Given the description of an element on the screen output the (x, y) to click on. 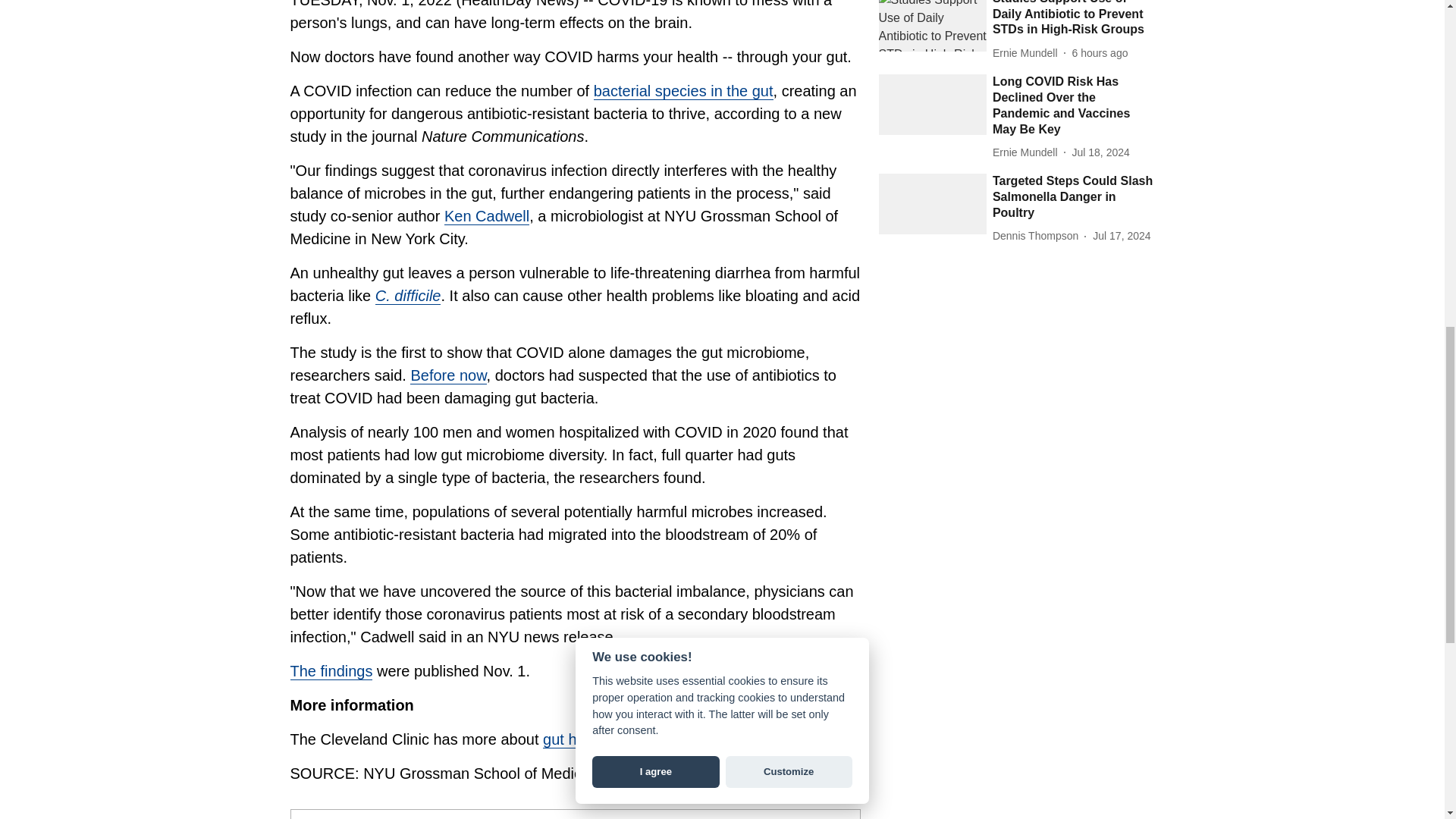
2024-07-19 13:46 (1099, 53)
2024-07-18 09:59 (1100, 152)
2024-07-17 09:18 (1121, 236)
